Given the description of an element on the screen output the (x, y) to click on. 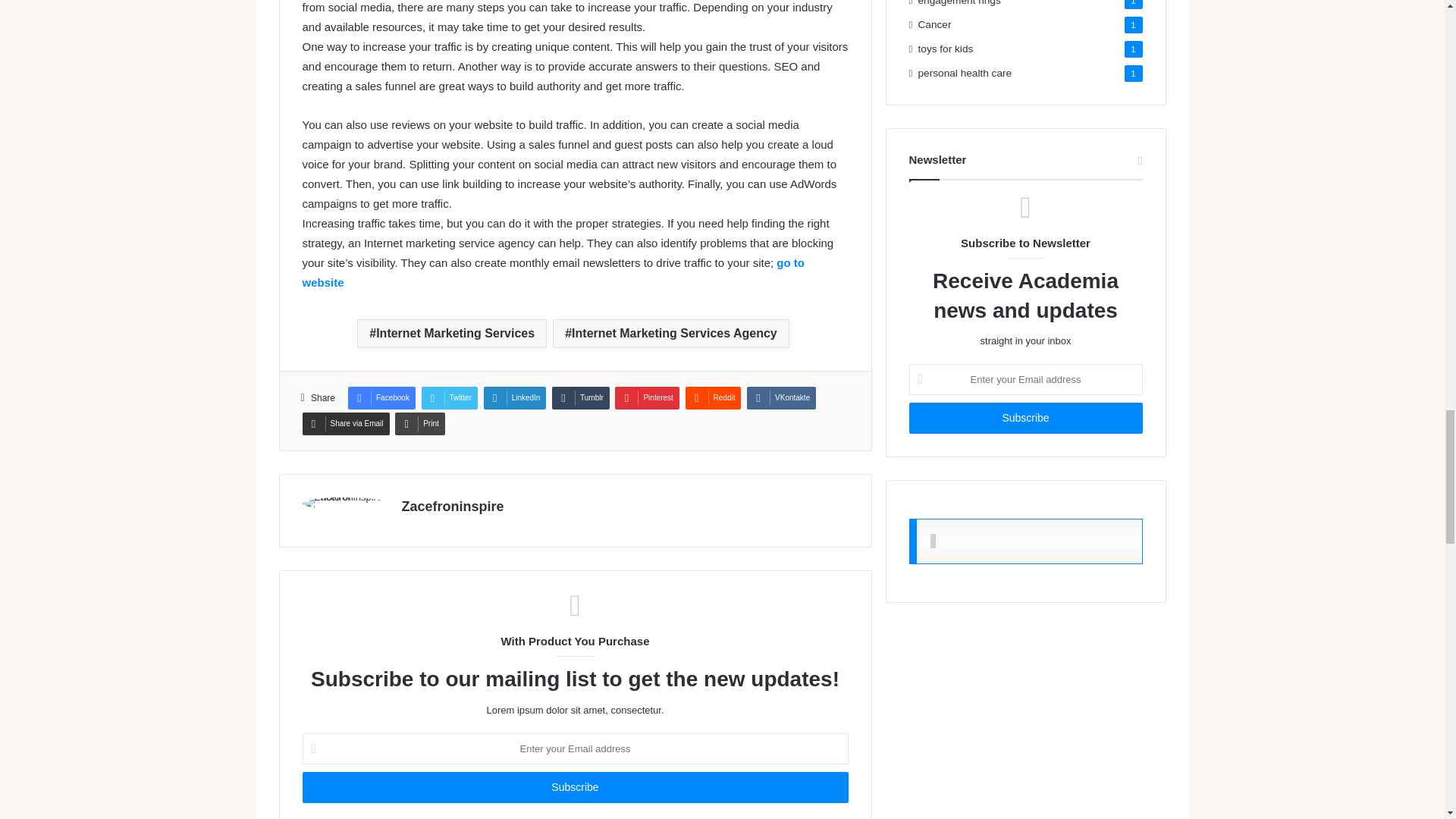
Internet Marketing Services Agency (671, 333)
Twitter (449, 397)
Internet Marketing Services (451, 333)
Reddit (713, 397)
Subscribe (574, 787)
Share via Email (344, 423)
Tumblr (580, 397)
VKontakte (780, 397)
Pinterest (646, 397)
Facebook (380, 397)
Subscribe (1025, 418)
Twitter (449, 397)
go to website (552, 272)
LinkedIn (515, 397)
Print (419, 423)
